Given the description of an element on the screen output the (x, y) to click on. 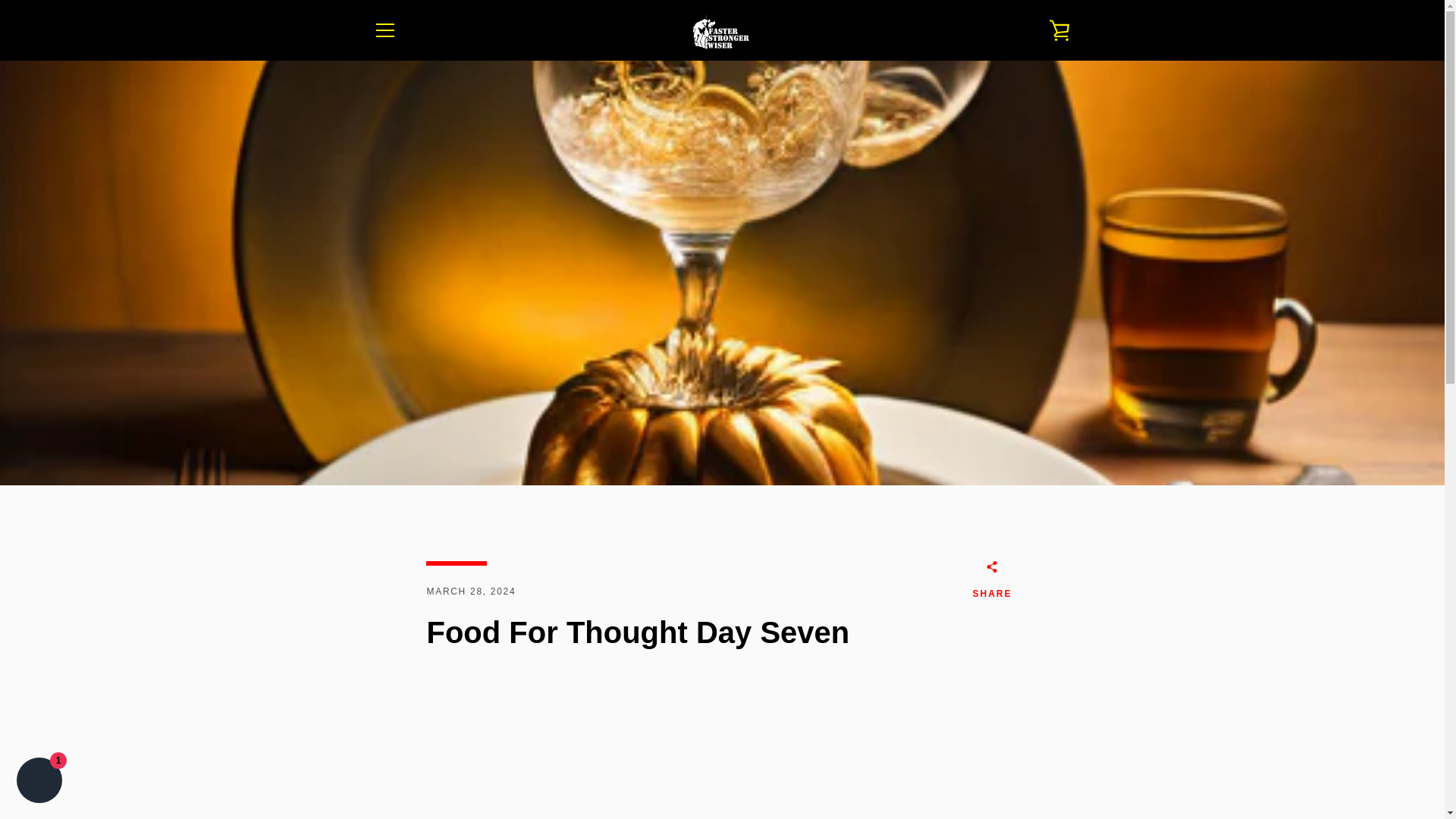
SHARE (991, 582)
Shopify online store chat (38, 781)
VIEW CART (1059, 30)
YouTube video player (691, 745)
MENU (384, 30)
